Given the description of an element on the screen output the (x, y) to click on. 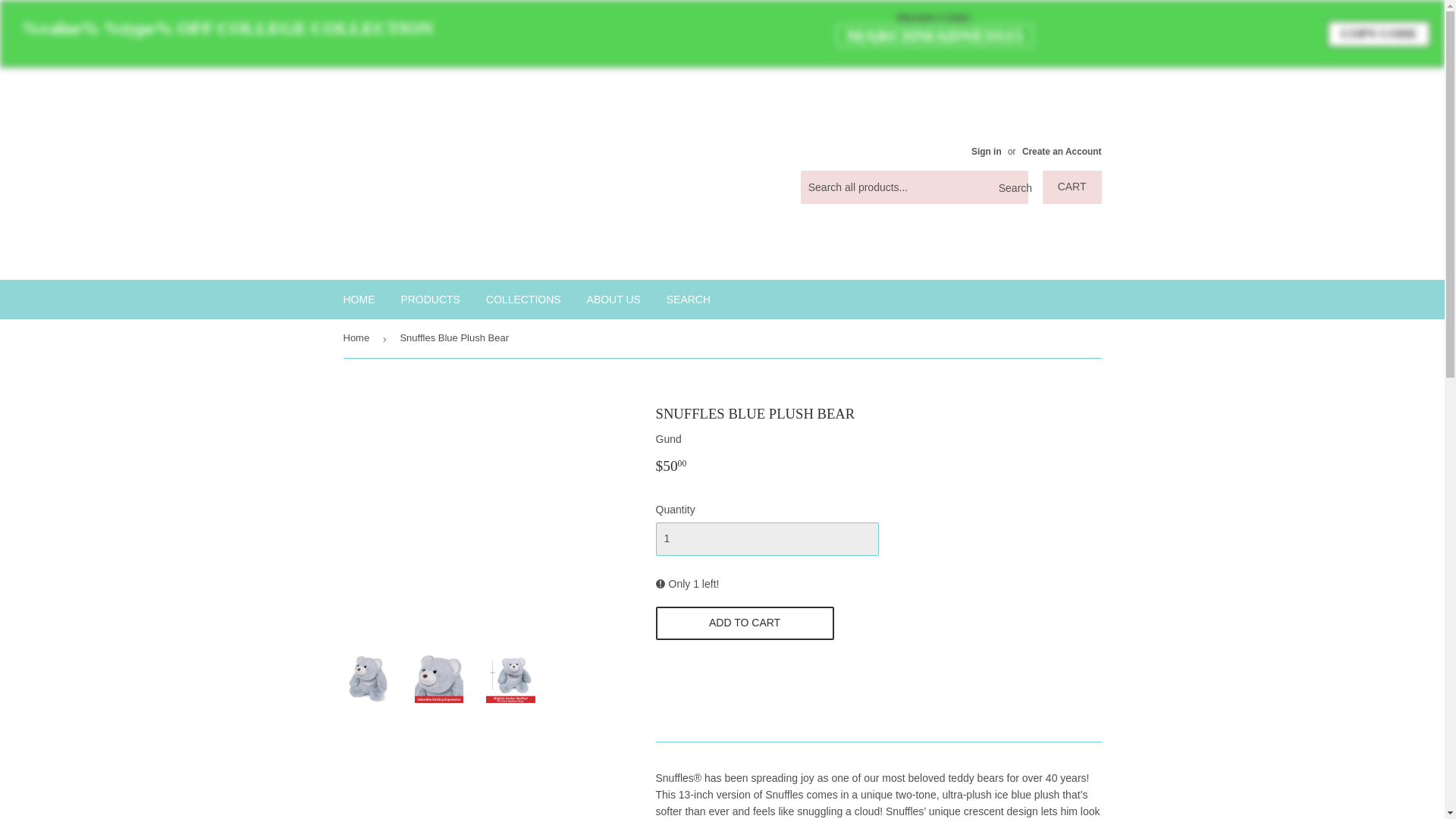
Create an Account (1062, 151)
1 (766, 539)
Search (1010, 187)
CART (1072, 186)
PRODUCTS (429, 299)
COPY CODE (1378, 33)
COLLECTIONS (523, 299)
Sign in (986, 151)
HOME (359, 299)
